Given the description of an element on the screen output the (x, y) to click on. 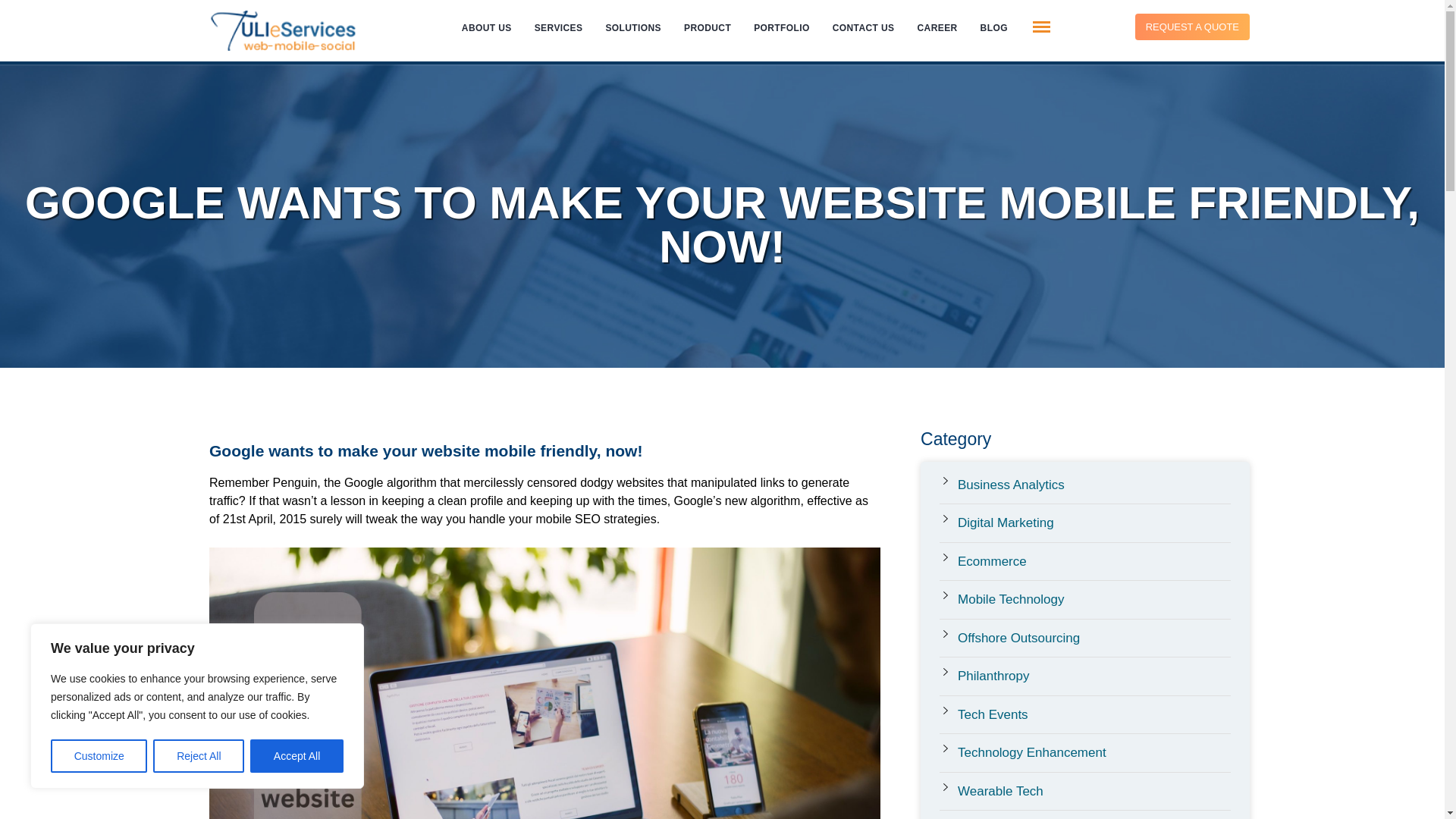
Customize (98, 756)
Accept All (296, 756)
Reject All (198, 756)
